Given the description of an element on the screen output the (x, y) to click on. 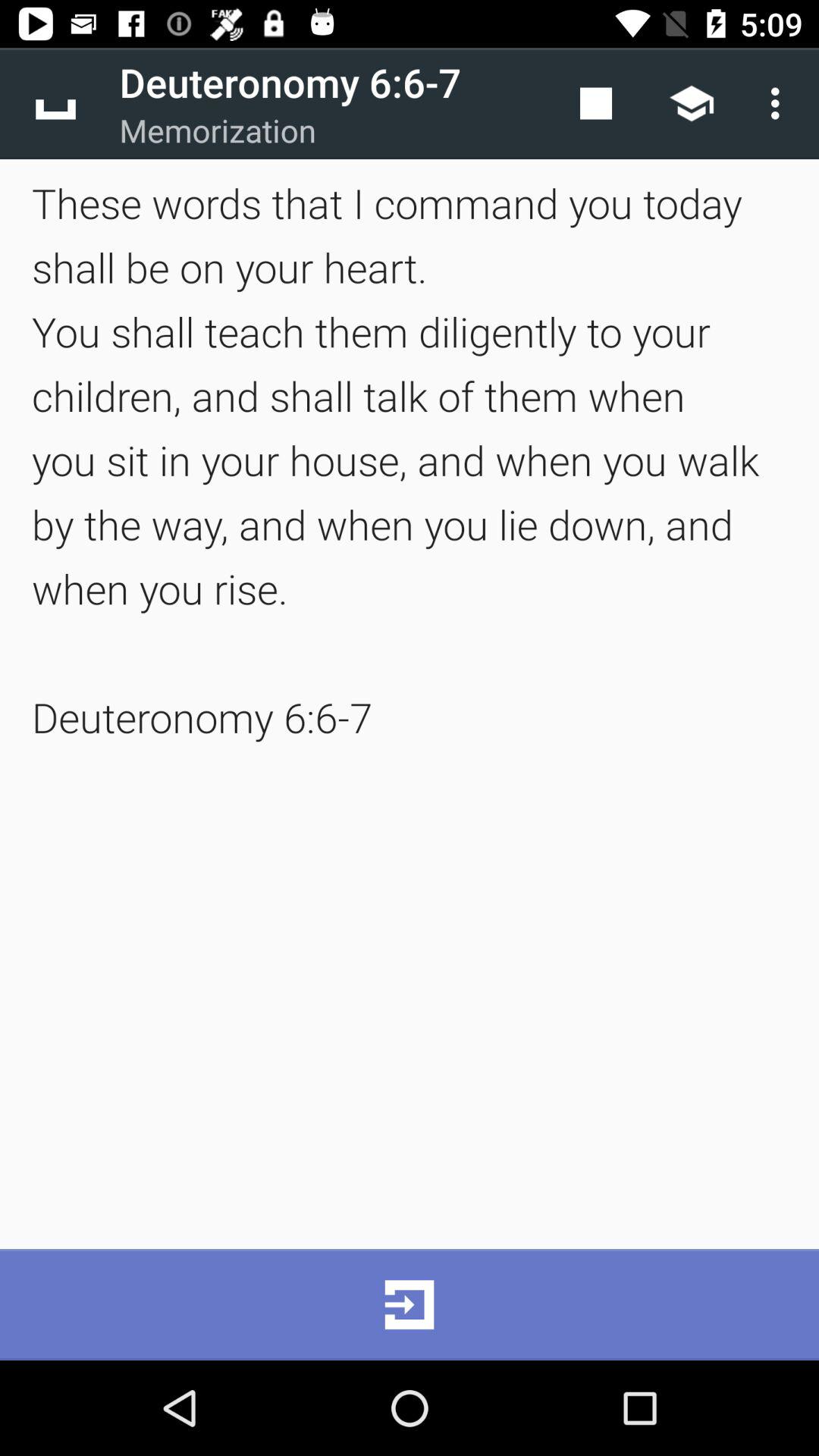
press the these words that item (409, 459)
